Given the description of an element on the screen output the (x, y) to click on. 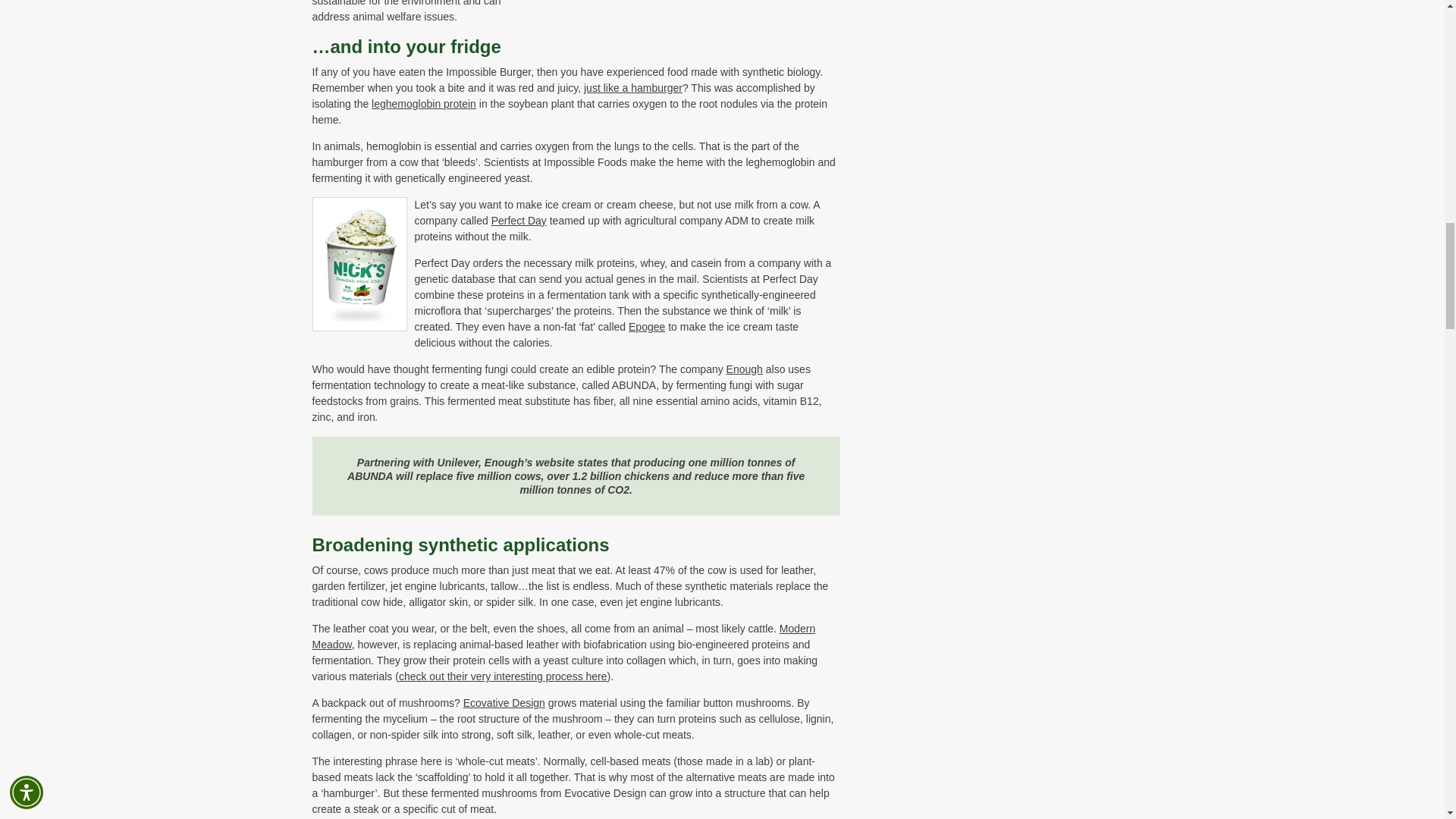
check out their very interesting process here (502, 676)
Epogee (646, 326)
Perfect Day (519, 220)
Enough (744, 369)
leghemoglobin protein (423, 103)
just like a hamburger (632, 87)
Modern Meadow (564, 636)
Ecovative Design (503, 702)
